Given the description of an element on the screen output the (x, y) to click on. 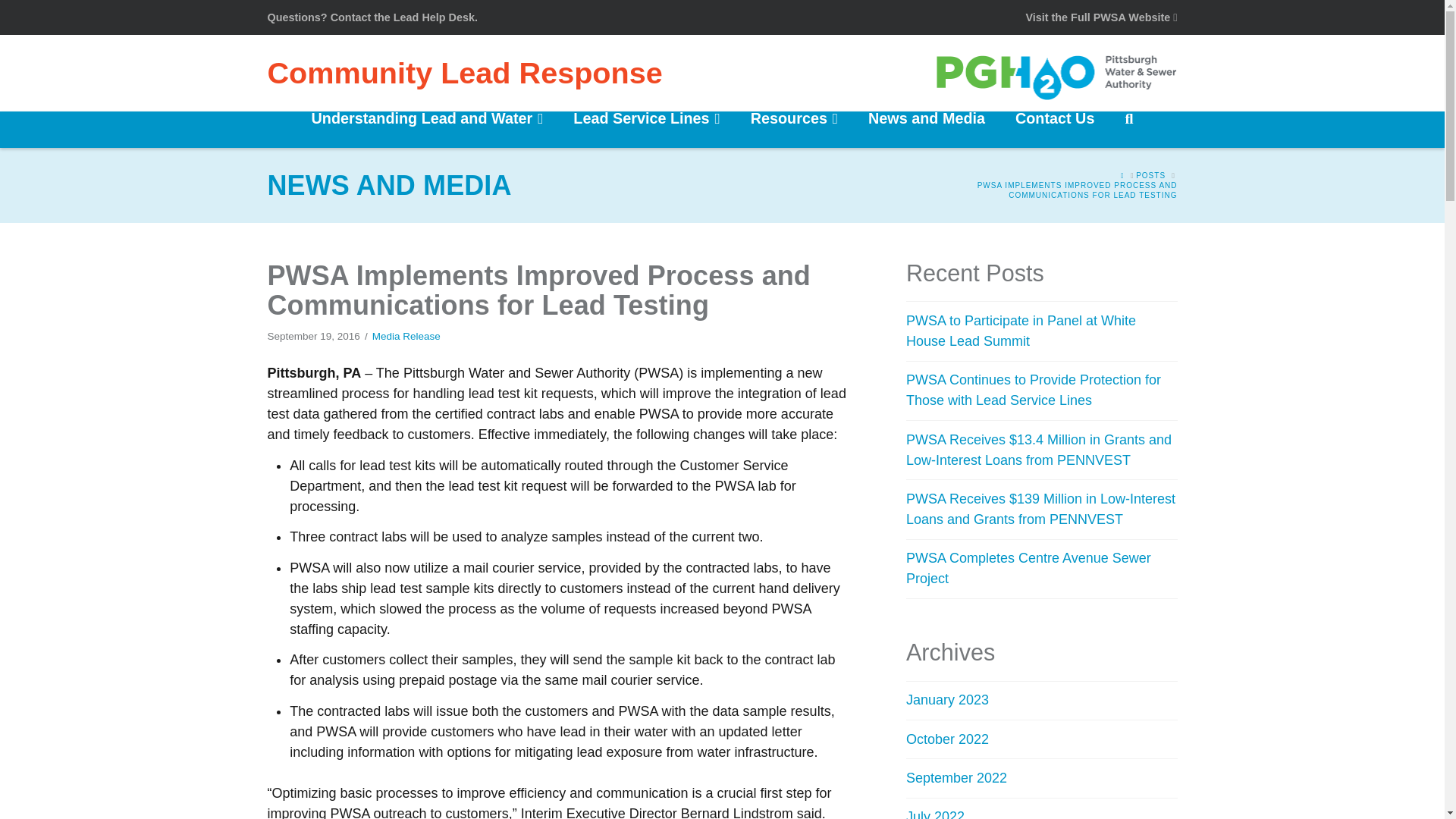
Visit the Full PWSA Website (1100, 17)
Resources (794, 129)
Contact Us (1054, 129)
Understanding Lead and Water (428, 129)
Community Lead Response (464, 72)
News and Media (926, 129)
Questions? Contact the Lead Help Desk. (371, 17)
You Are Here (1040, 189)
pgh2o (1055, 72)
Lead Service Lines (646, 129)
